Given the description of an element on the screen output the (x, y) to click on. 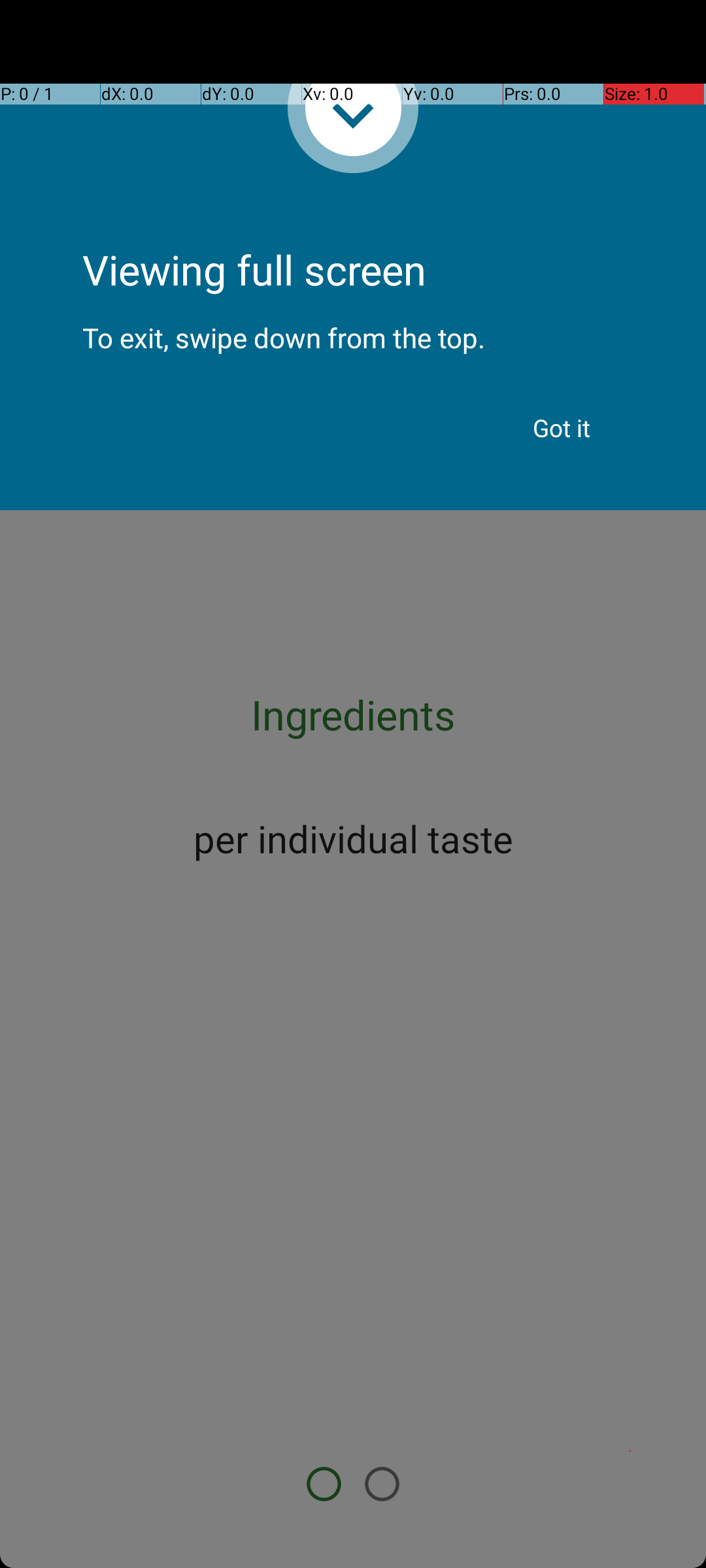
Viewing full screen Element type: android.widget.TextView (353, 235)
To exit, swipe down from the top. Element type: android.widget.TextView (353, 326)
Got it Element type: android.widget.Button (561, 427)
